Given the description of an element on the screen output the (x, y) to click on. 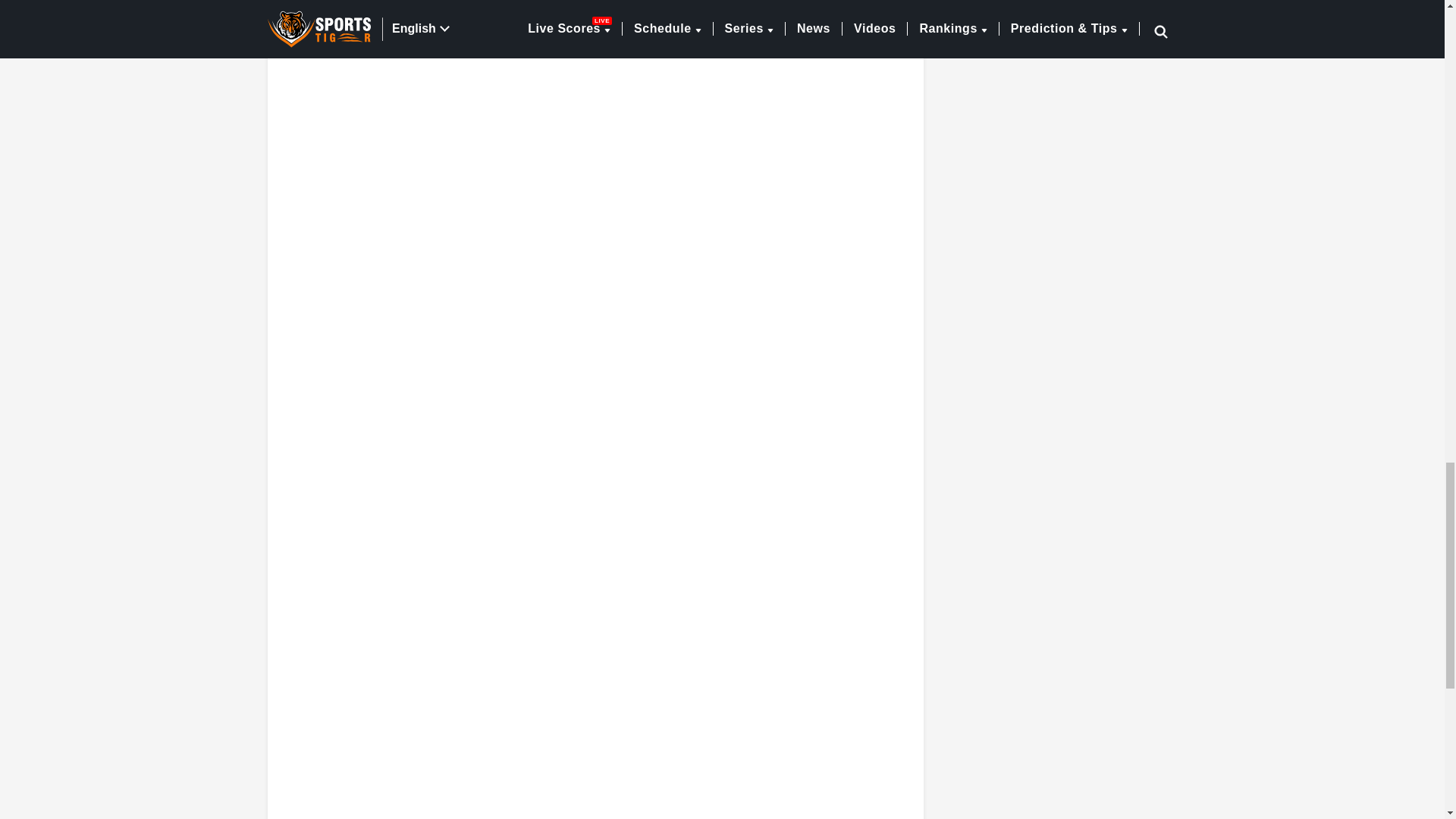
X Post (595, 65)
